Given the description of an element on the screen output the (x, y) to click on. 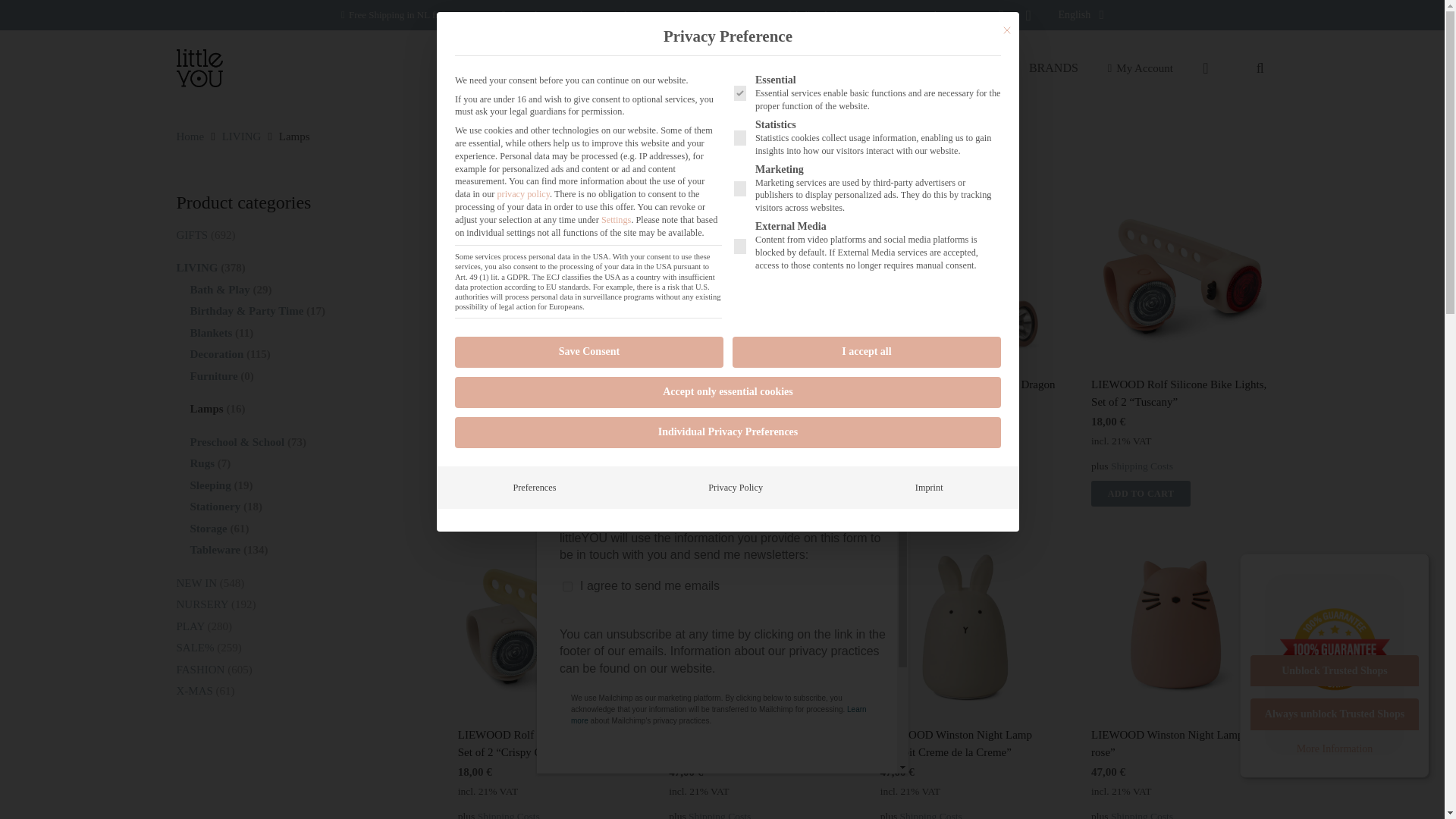
Instagram (1028, 14)
English (1079, 14)
NEW IN (629, 68)
LIVING (861, 68)
FASHION (787, 68)
Facebook (1000, 14)
NURSERY (706, 68)
